Given the description of an element on the screen output the (x, y) to click on. 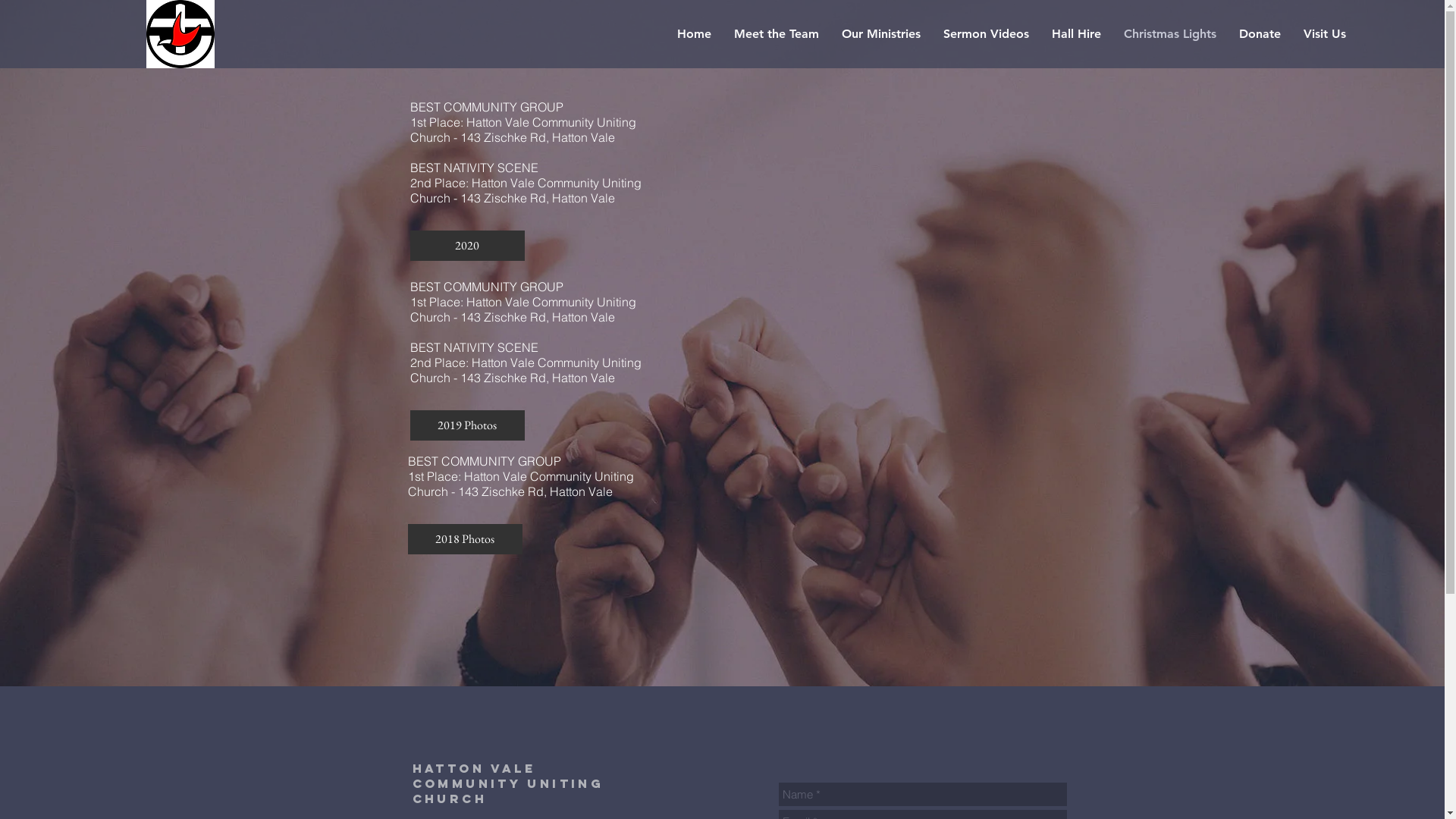
Visit Us Element type: text (1324, 34)
Sermon Videos Element type: text (985, 34)
Home Element type: text (693, 34)
Hall Hire Element type: text (1076, 34)
2020 Element type: text (466, 245)
Meet the Team Element type: text (776, 34)
Our Ministries Element type: text (880, 34)
Donate Element type: text (1259, 34)
Christmas Lights Element type: text (1169, 34)
2018 Photos Element type: text (464, 539)
2019 Photos Element type: text (466, 425)
